Given the description of an element on the screen output the (x, y) to click on. 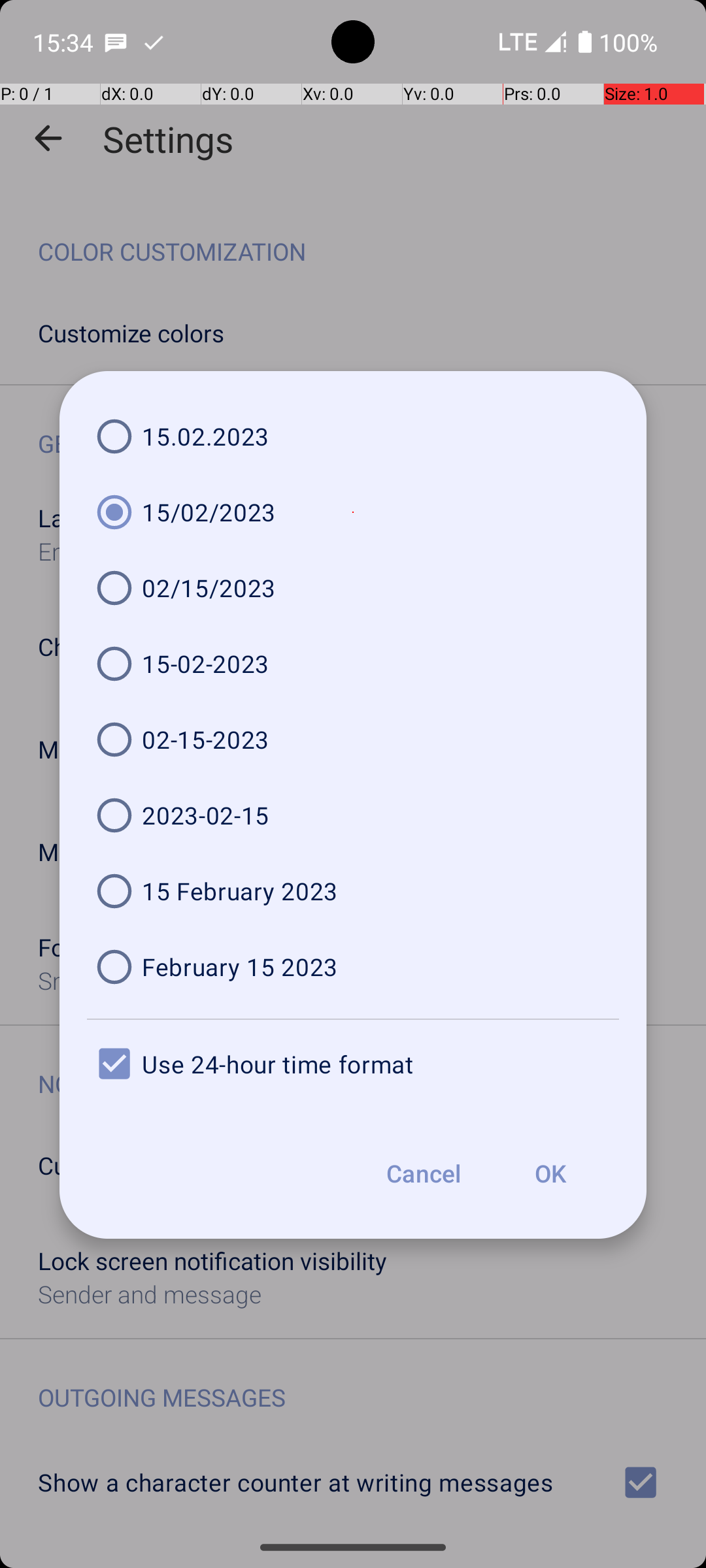
15.02.2023 Element type: android.widget.RadioButton (352, 436)
15/02/2023 Element type: android.widget.RadioButton (352, 512)
02/15/2023 Element type: android.widget.RadioButton (352, 587)
15-02-2023 Element type: android.widget.RadioButton (352, 663)
02-15-2023 Element type: android.widget.RadioButton (352, 739)
2023-02-15 Element type: android.widget.RadioButton (352, 815)
15 February 2023 Element type: android.widget.RadioButton (352, 891)
February 15 2023 Element type: android.widget.RadioButton (352, 966)
